Given the description of an element on the screen output the (x, y) to click on. 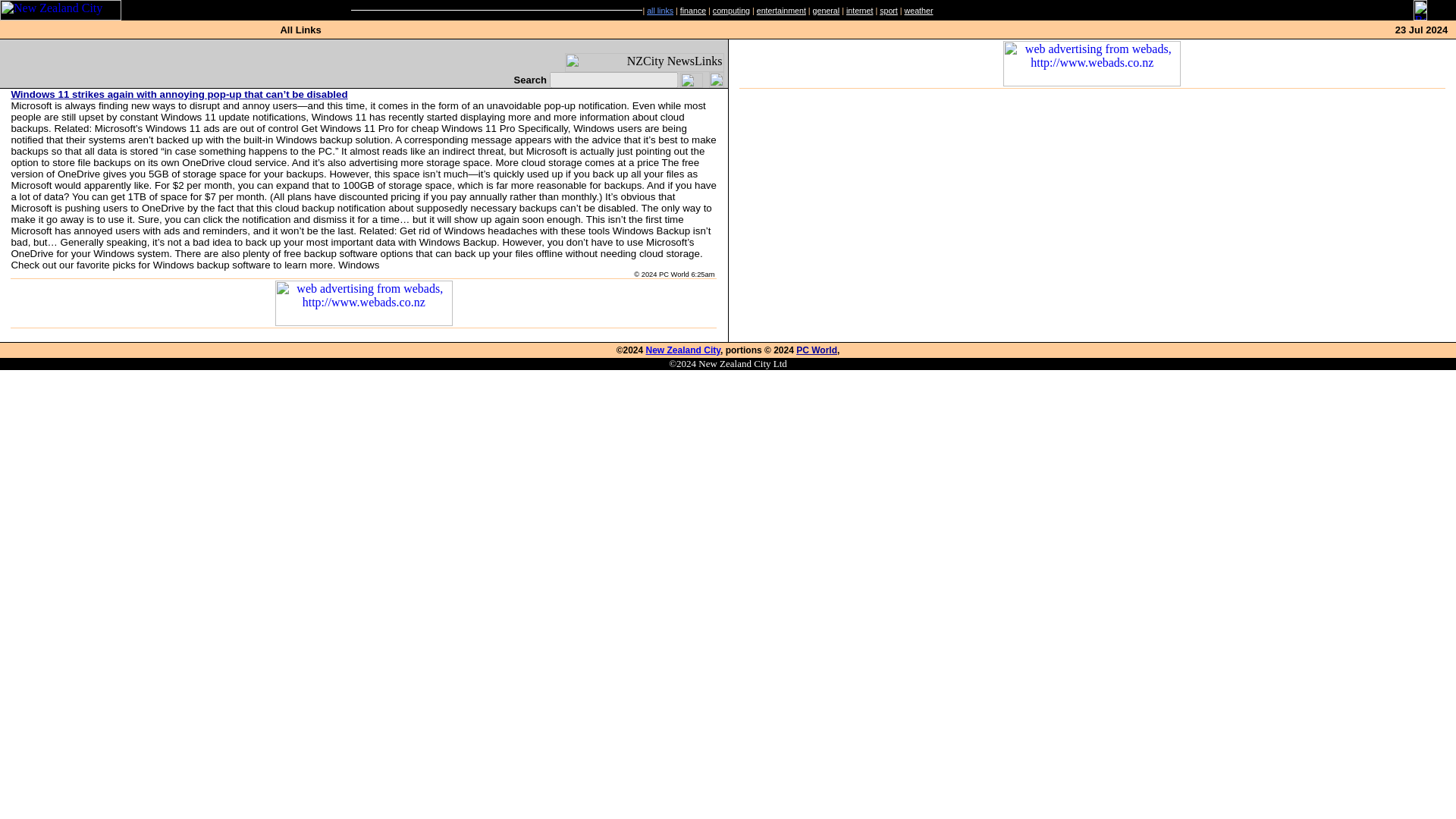
All Newslinks (659, 10)
finance (692, 10)
Newslinks that don't fit other sections (826, 10)
sport (888, 10)
Internet related newslinks (859, 10)
Entertainment Links (781, 10)
Weather newslinks (918, 10)
all links (659, 10)
entertainment (781, 10)
General Computing related newslinks (731, 10)
New Zealand City (683, 349)
weather (918, 10)
general (826, 10)
Finance and Business related newslinks (692, 10)
internet (859, 10)
